Given the description of an element on the screen output the (x, y) to click on. 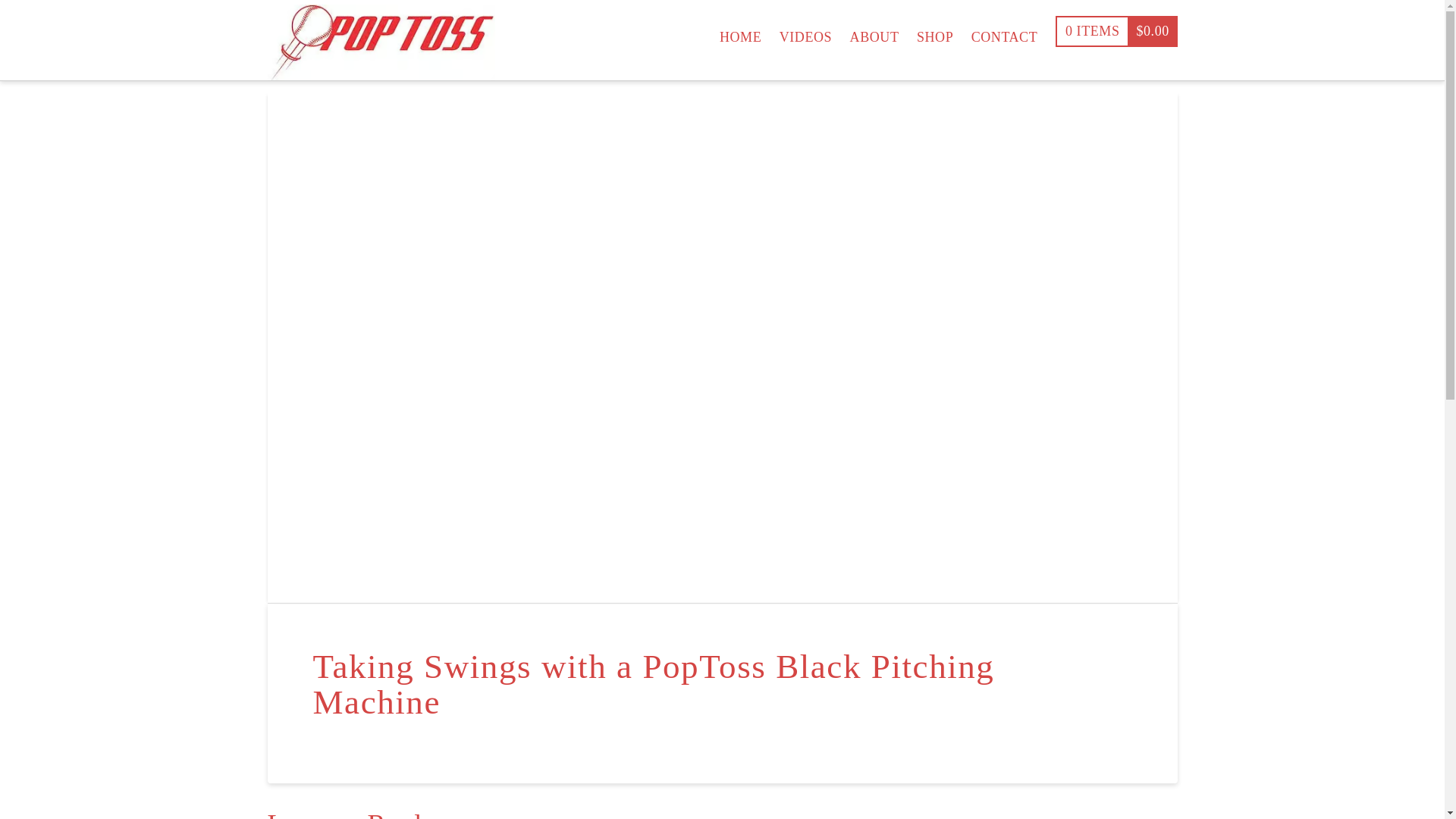
CONTACT Element type: text (1004, 30)
0 ITEMS
$0.00 Element type: text (1116, 30)
HOME Element type: text (740, 30)
VIDEOS Element type: text (805, 30)
ABOUT Element type: text (873, 30)
embedded content 1 Element type: hover (721, 346)
SHOP Element type: text (934, 30)
